Given the description of an element on the screen output the (x, y) to click on. 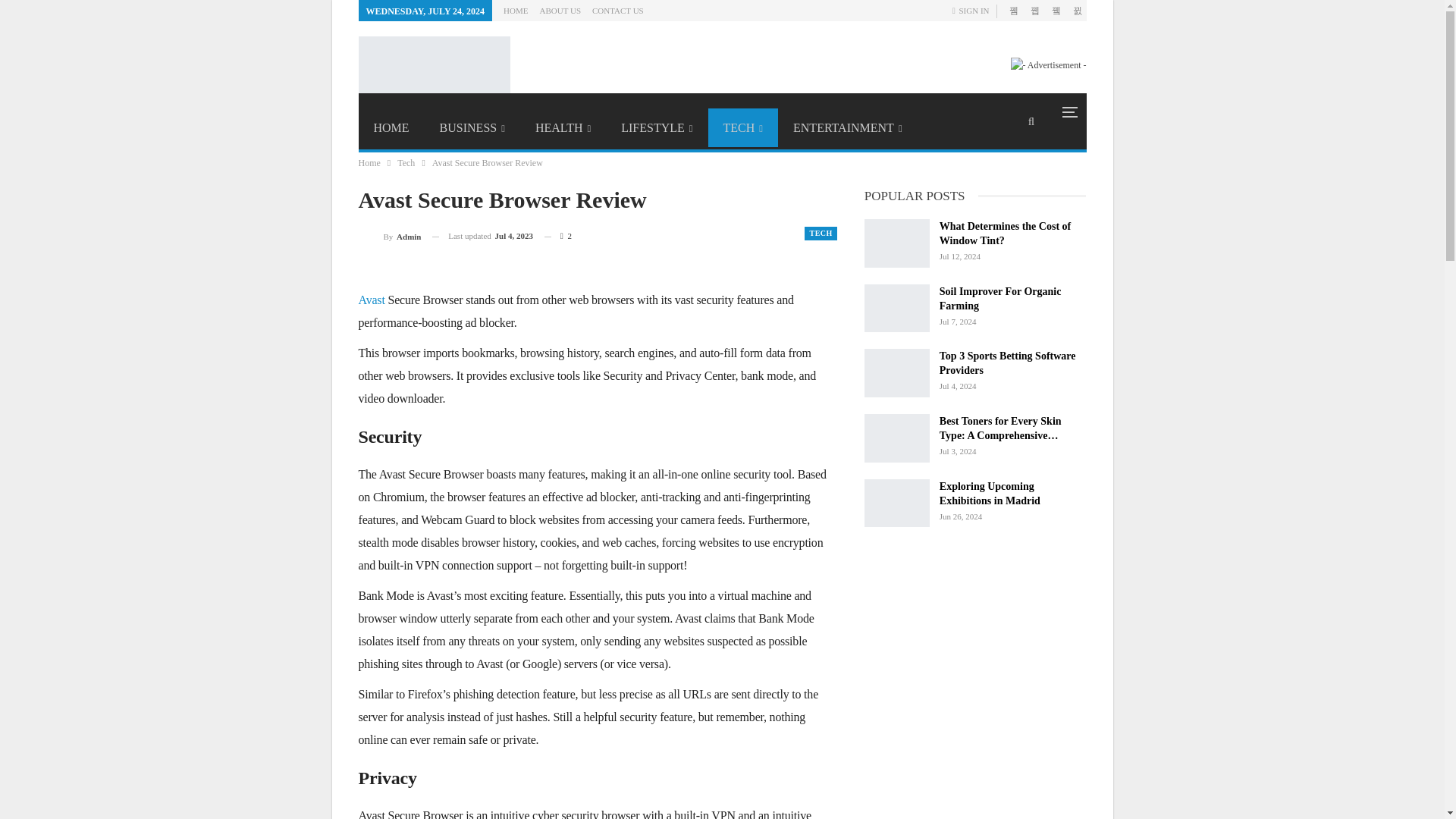
Soil Improver For Organic Farming (897, 308)
HOME (390, 127)
What Determines the Cost of Window Tint? (897, 243)
LIFESTYLE (656, 127)
BUSINESS (472, 127)
CONTACT US (617, 10)
Browse Author Articles (389, 236)
SIGN IN (973, 10)
HEALTH (562, 127)
TECH (742, 127)
ABOUT US (560, 10)
HOME (515, 10)
